Given the description of an element on the screen output the (x, y) to click on. 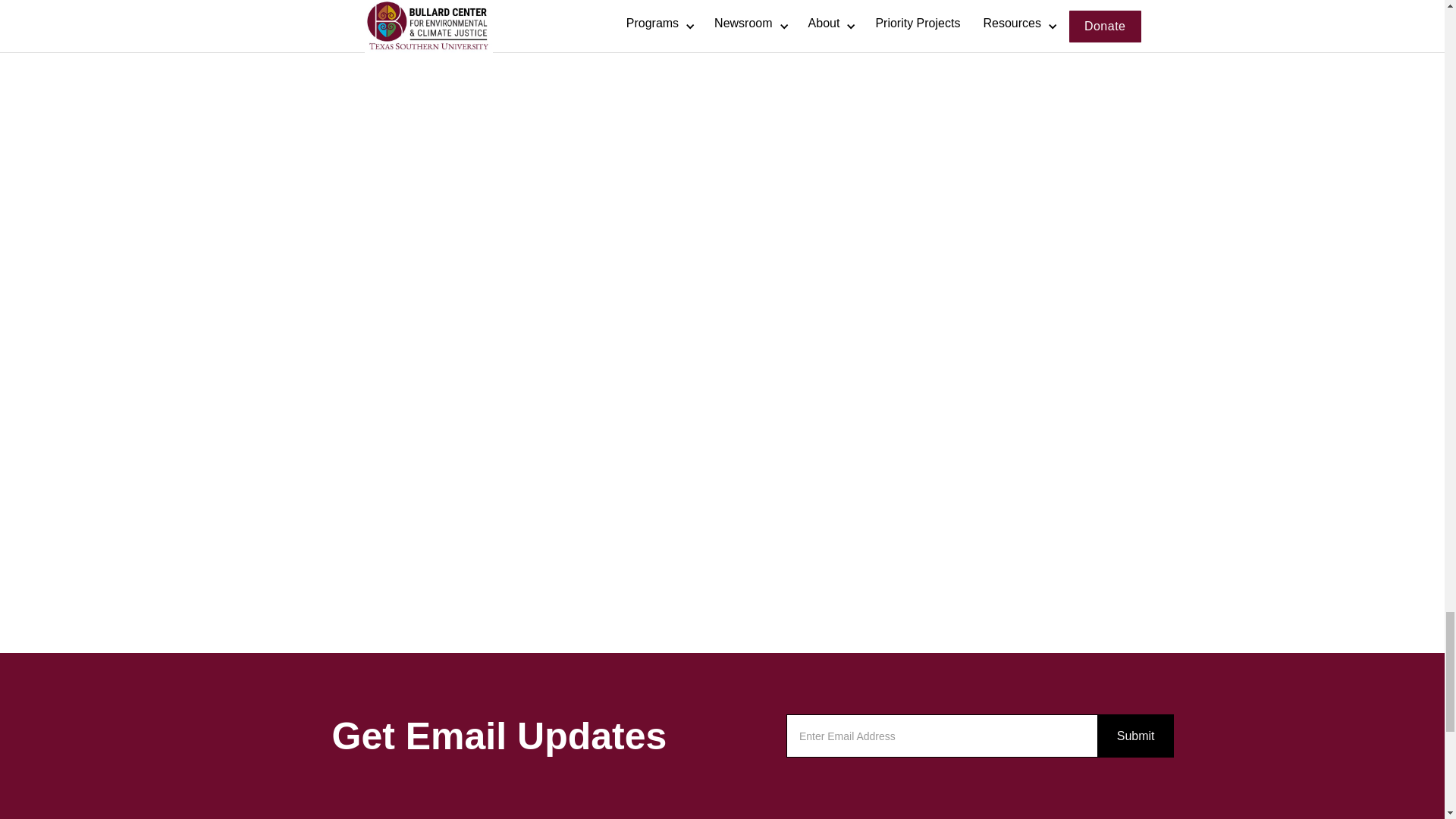
Submit (1135, 735)
